Given the description of an element on the screen output the (x, y) to click on. 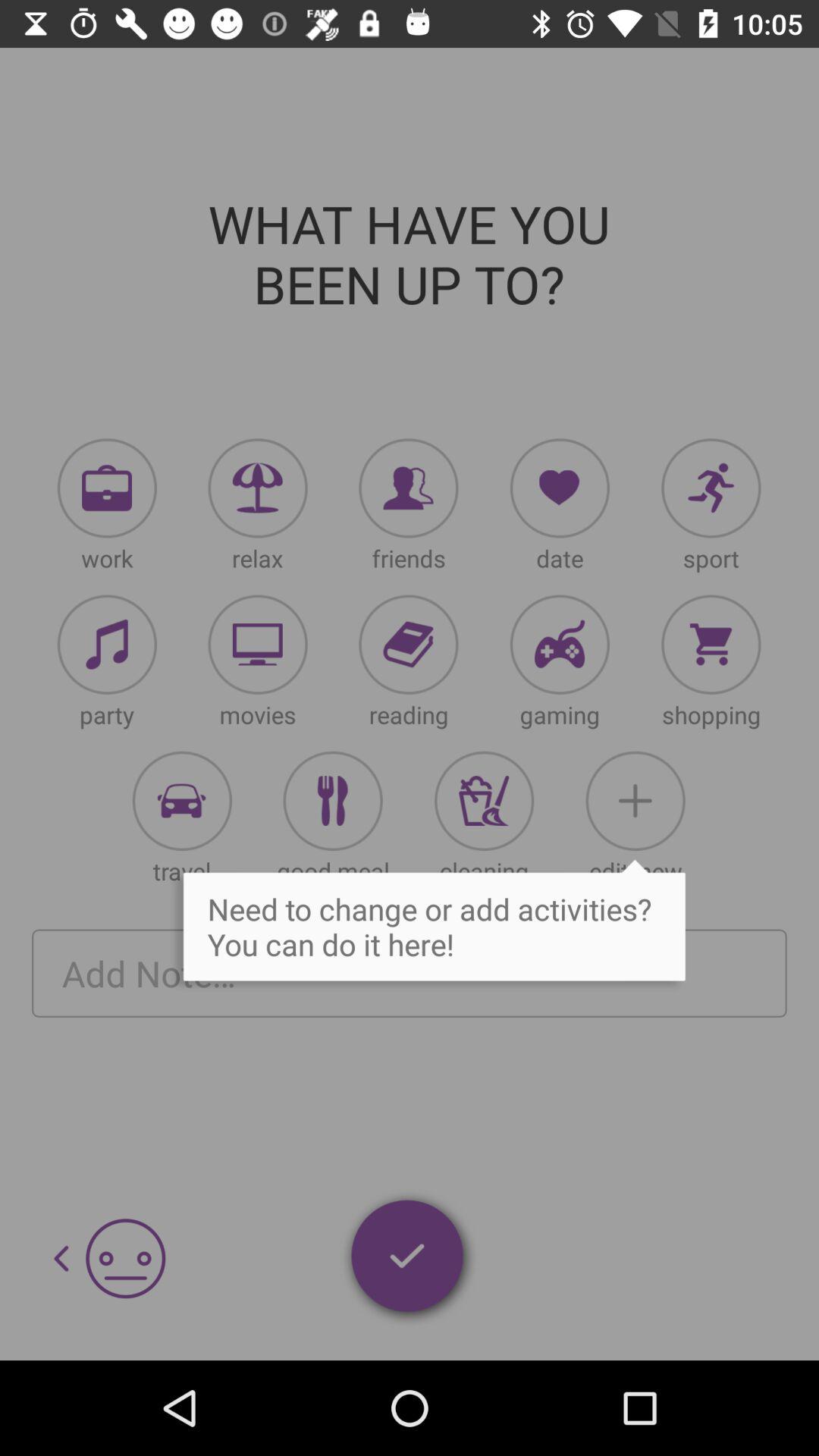
go to shopping (710, 644)
